Given the description of an element on the screen output the (x, y) to click on. 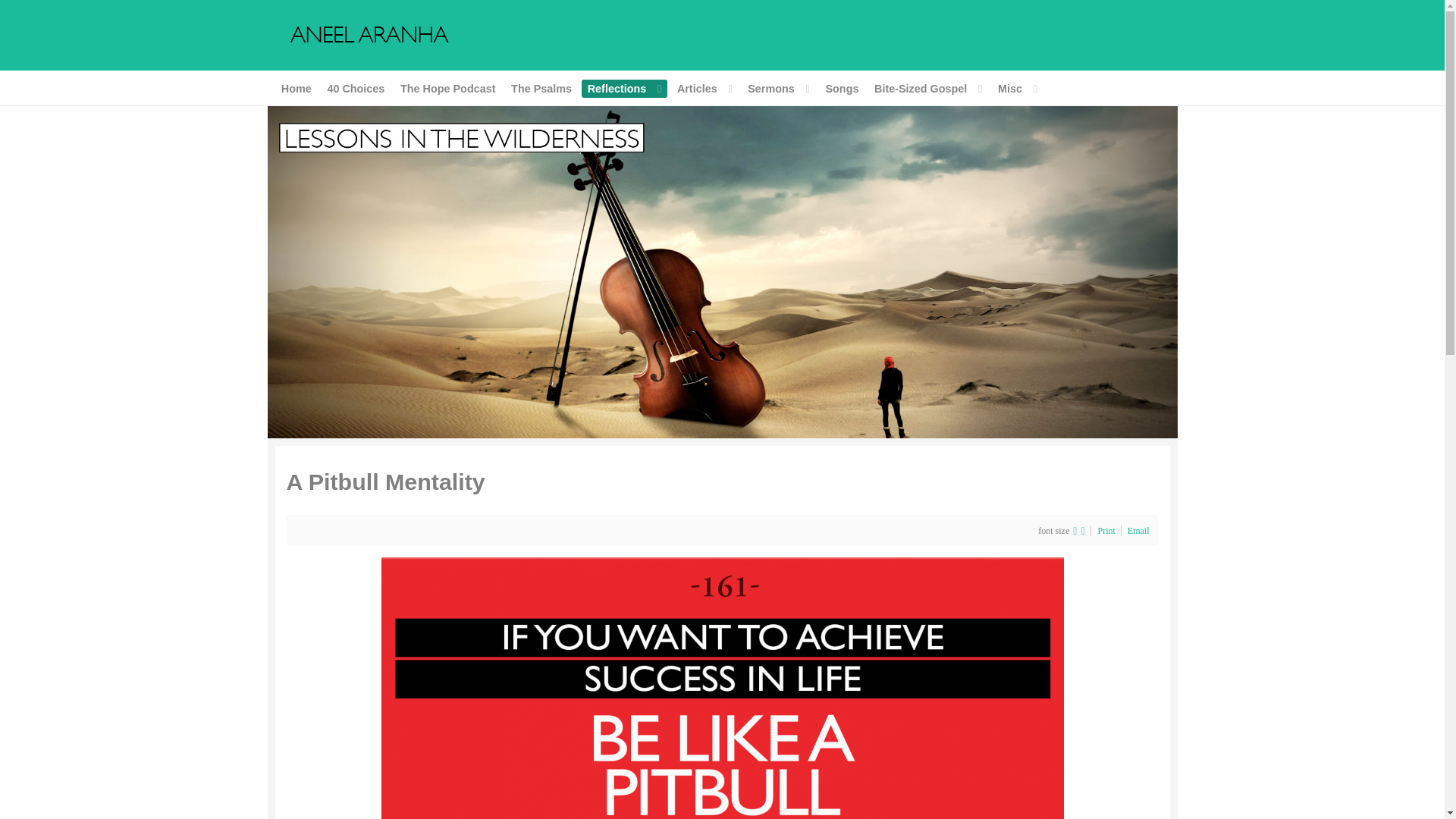
40 Choices (355, 88)
Bite-Sized Gospel (928, 88)
Articles (704, 88)
Reflections (623, 88)
Misc (1016, 88)
The Psalms (541, 88)
The Hope Podcast (447, 88)
Songs (841, 88)
Sermons (778, 88)
Aneel Aranha (721, 270)
Home (296, 88)
Aneel Aranha (369, 33)
